Given the description of an element on the screen output the (x, y) to click on. 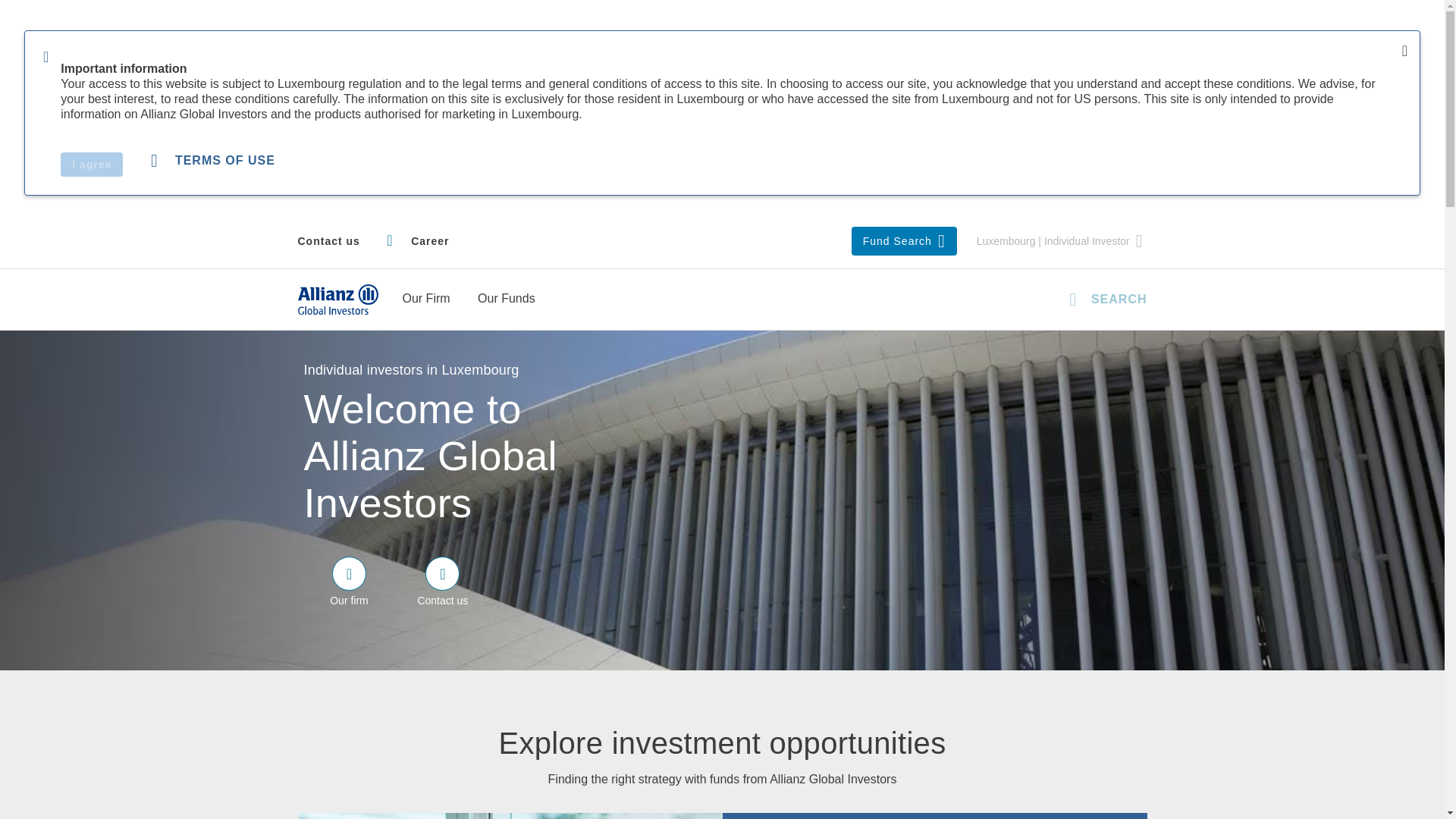
Career (417, 241)
Terms of Use (213, 160)
TERMS OF USE (213, 160)
Our Firm (426, 299)
Contact us (328, 241)
Fund Search (903, 240)
Contact us (328, 241)
SEARCH (1102, 299)
Our Funds (507, 299)
I agree (91, 164)
